Given the description of an element on the screen output the (x, y) to click on. 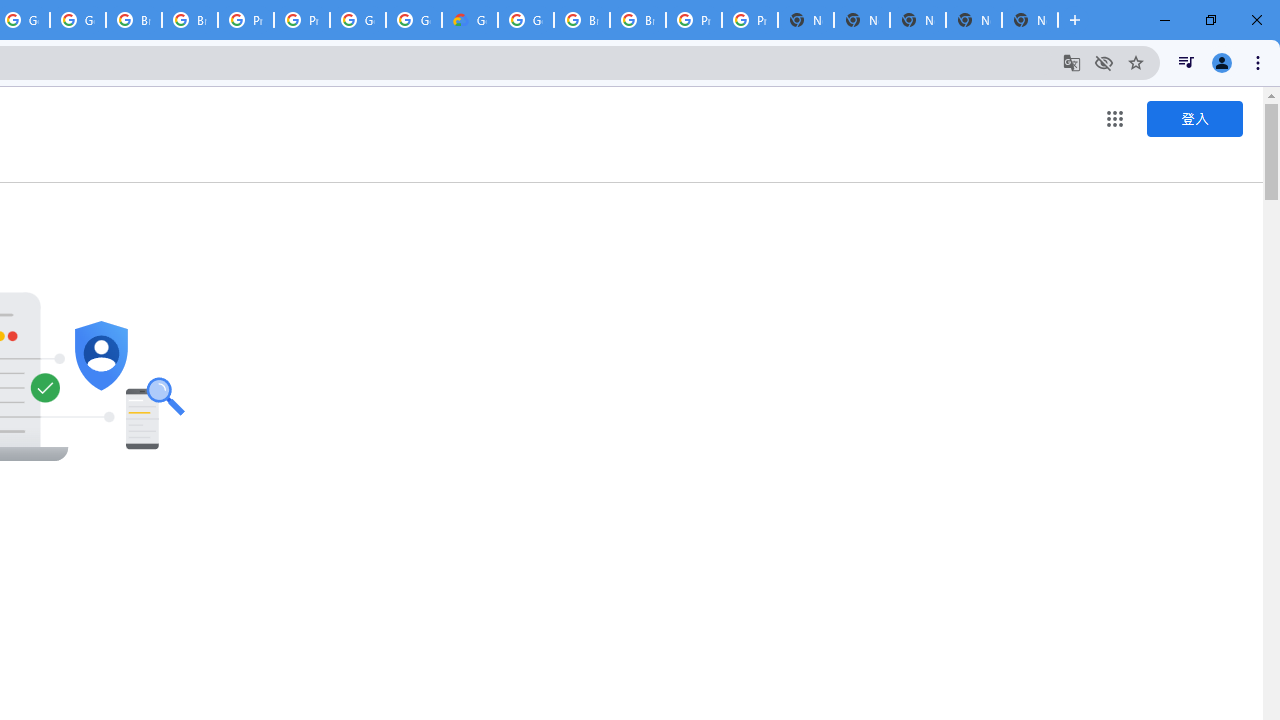
Browse Chrome as a guest - Computer - Google Chrome Help (134, 20)
Browse Chrome as a guest - Computer - Google Chrome Help (189, 20)
Browse Chrome as a guest - Computer - Google Chrome Help (582, 20)
Google Cloud Platform (525, 20)
Google Cloud Platform (413, 20)
